Given the description of an element on the screen output the (x, y) to click on. 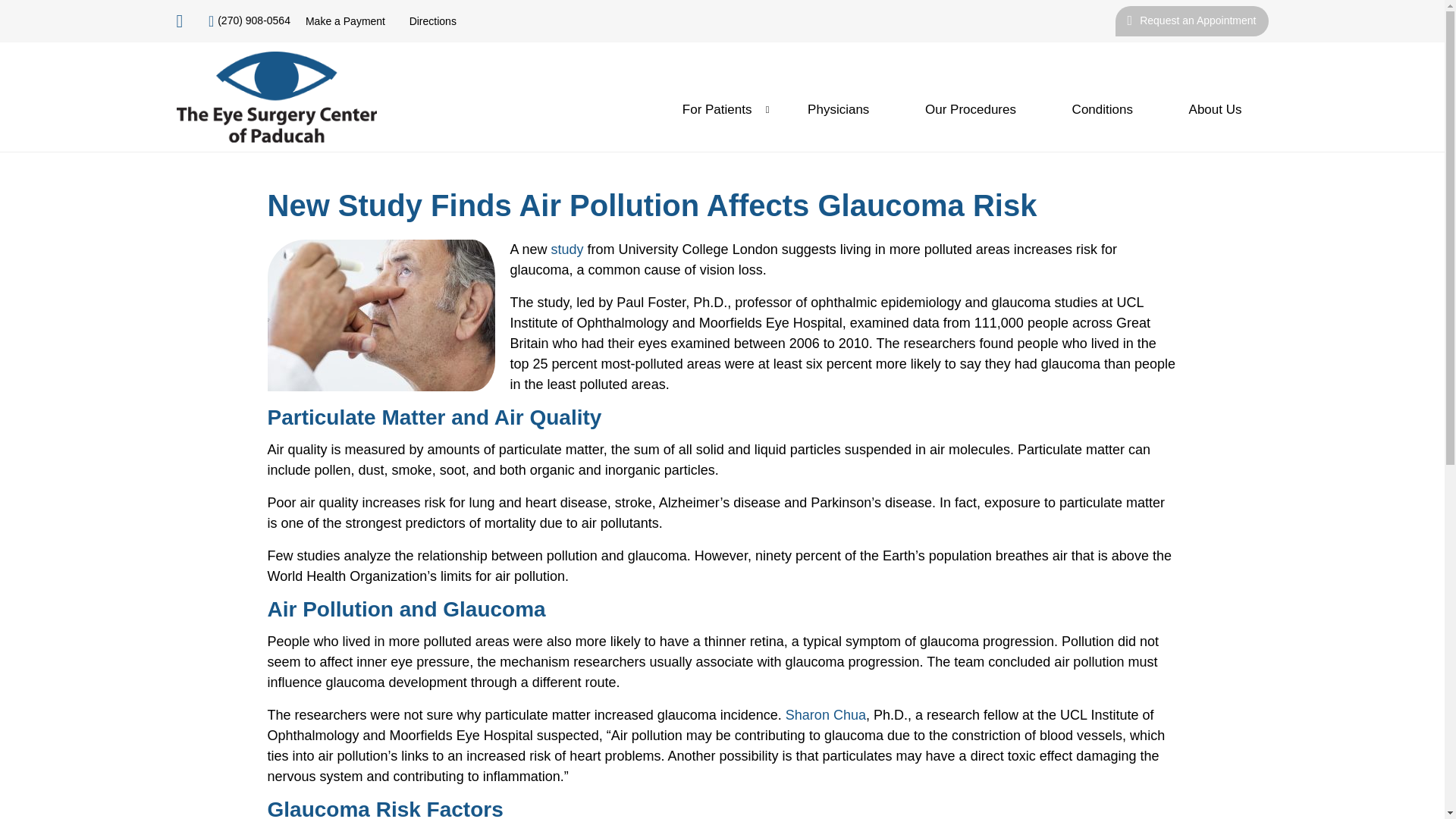
For Patients (717, 109)
study (567, 249)
Physicians (838, 109)
The Eye Surgery Center of Paducah (276, 96)
Request an Appointment (1191, 20)
Make a Payment (345, 21)
Conditions (1101, 109)
About Us (1215, 109)
Our Procedures (970, 109)
Directions (433, 21)
Sharon Chua (826, 714)
